Given the description of an element on the screen output the (x, y) to click on. 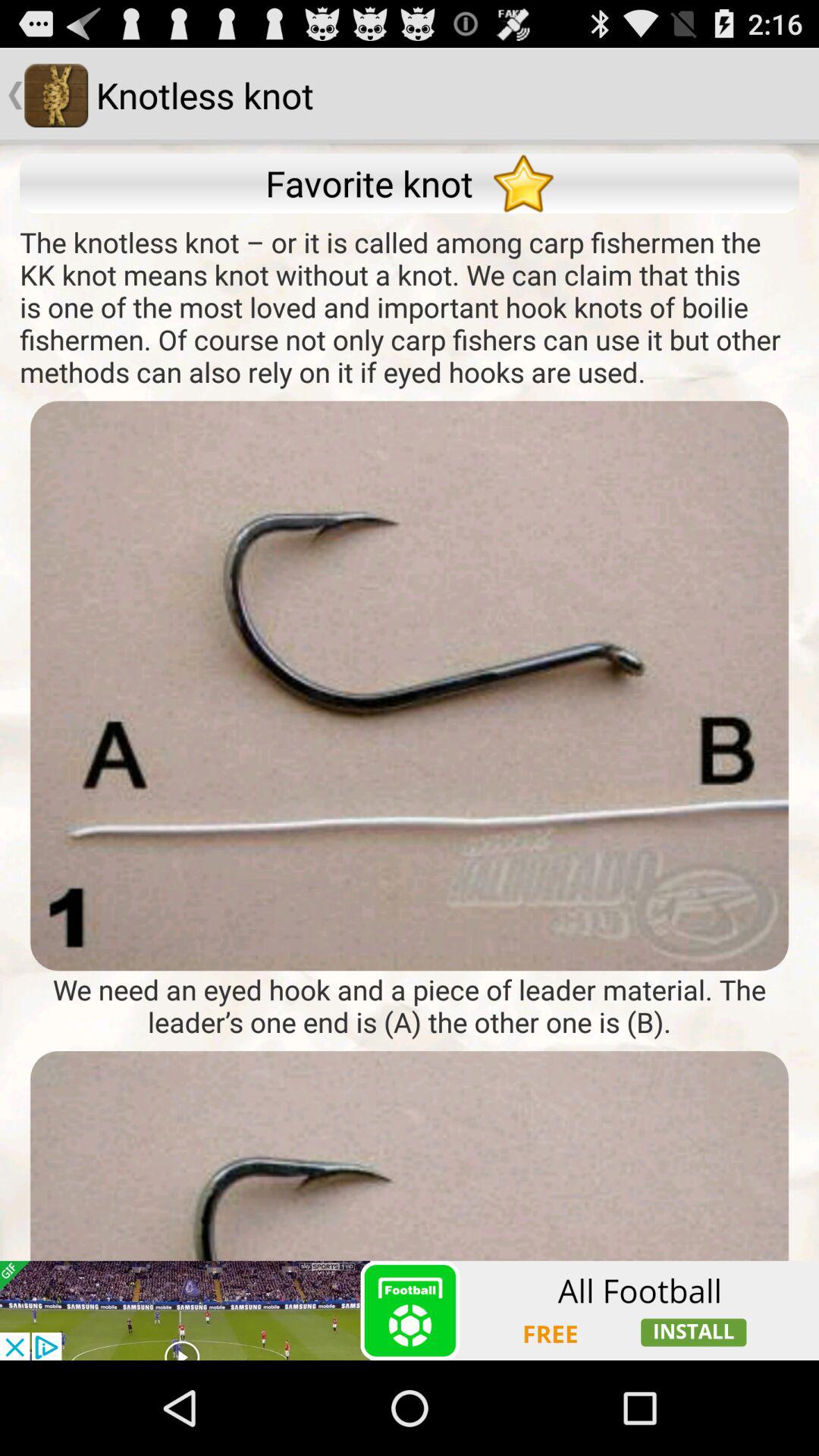
advertisement (409, 1310)
